Given the description of an element on the screen output the (x, y) to click on. 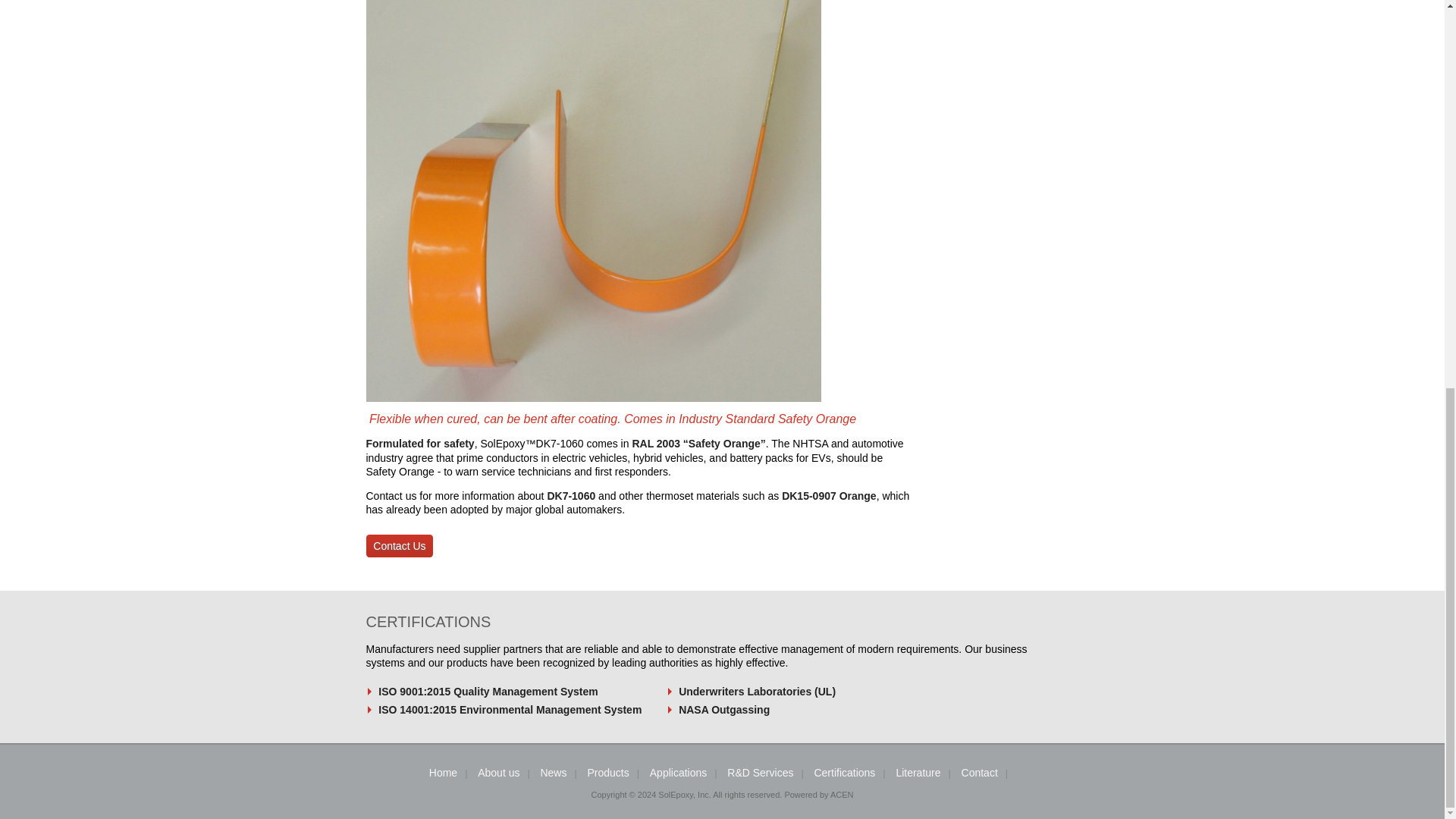
Email your comments or questions (398, 545)
Contact Us (398, 545)
